Given the description of an element on the screen output the (x, y) to click on. 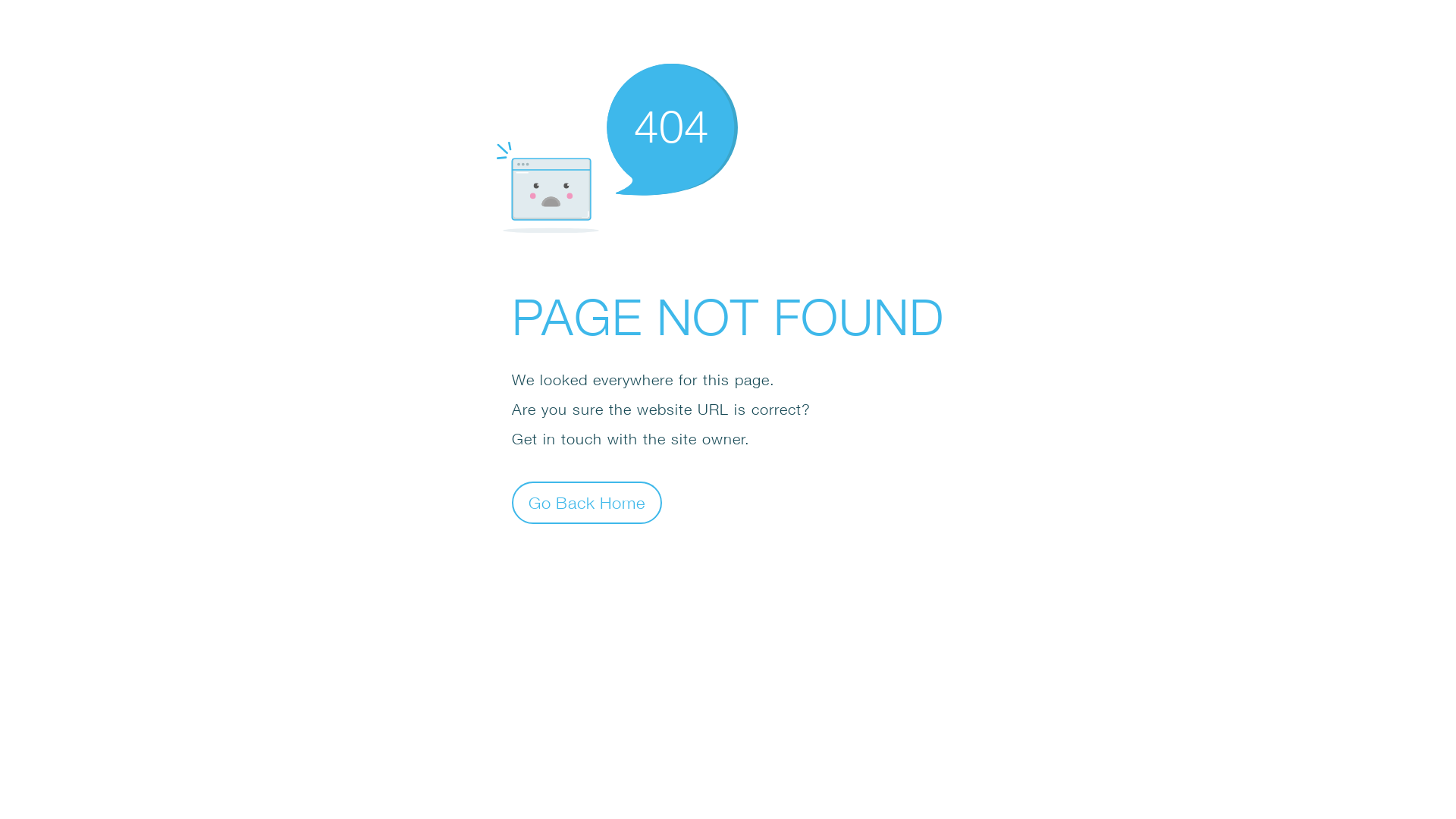
Go Back Home Element type: text (586, 502)
